Given the description of an element on the screen output the (x, y) to click on. 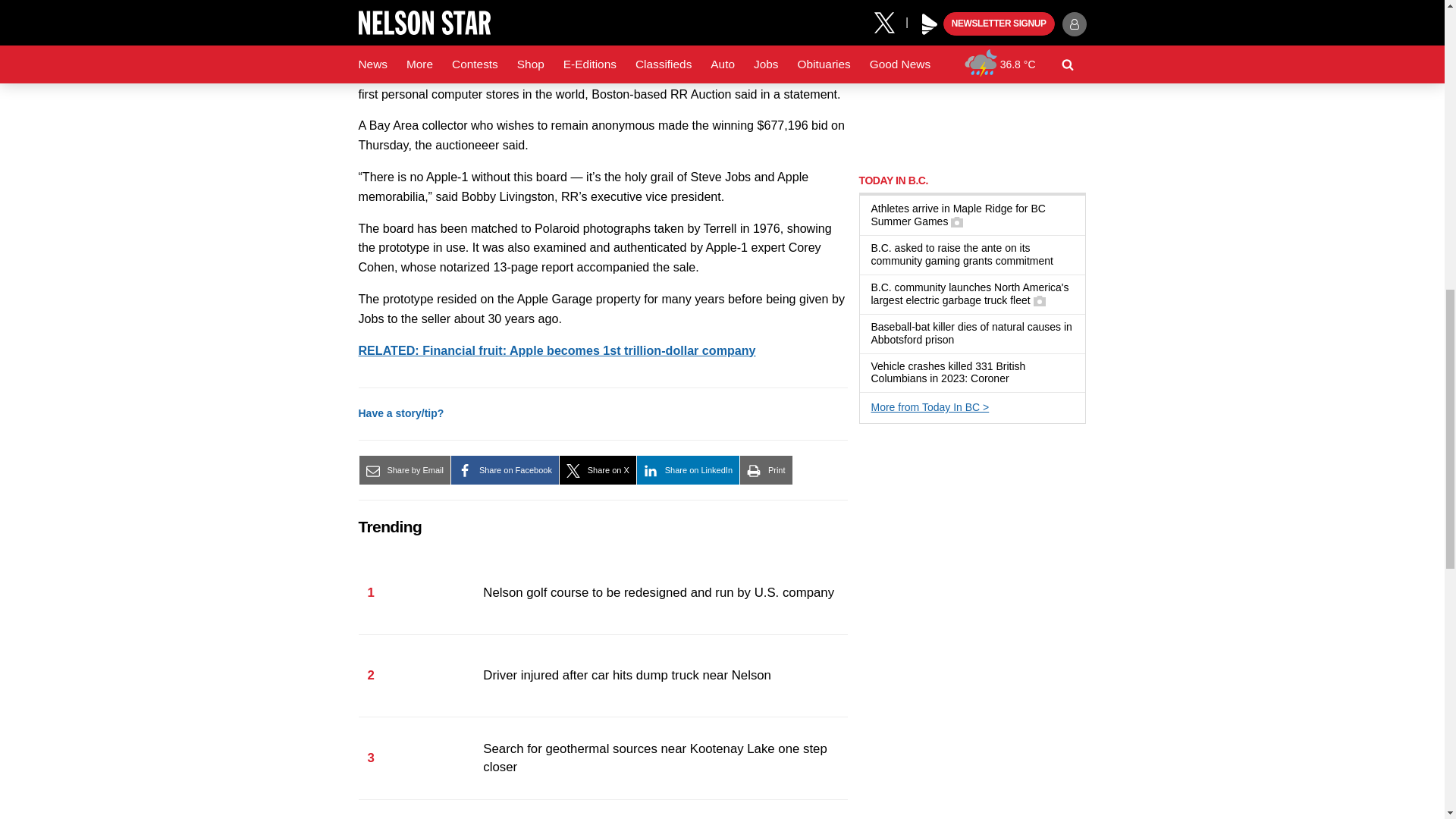
Has a gallery (956, 222)
Has a gallery (1038, 300)
related story (556, 350)
